Given the description of an element on the screen output the (x, y) to click on. 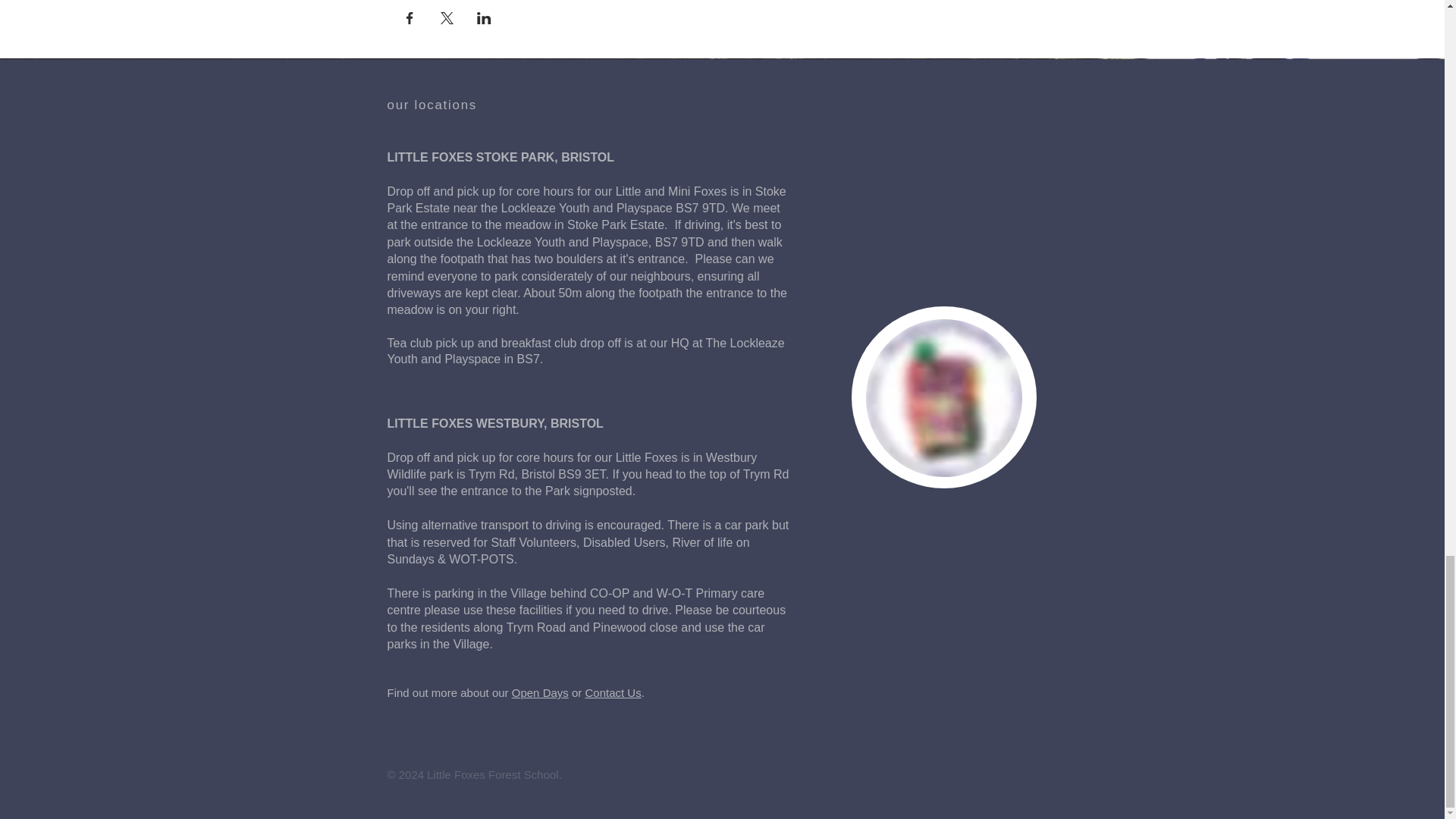
Open Days (540, 692)
Contact Us (613, 692)
